Given the description of an element on the screen output the (x, y) to click on. 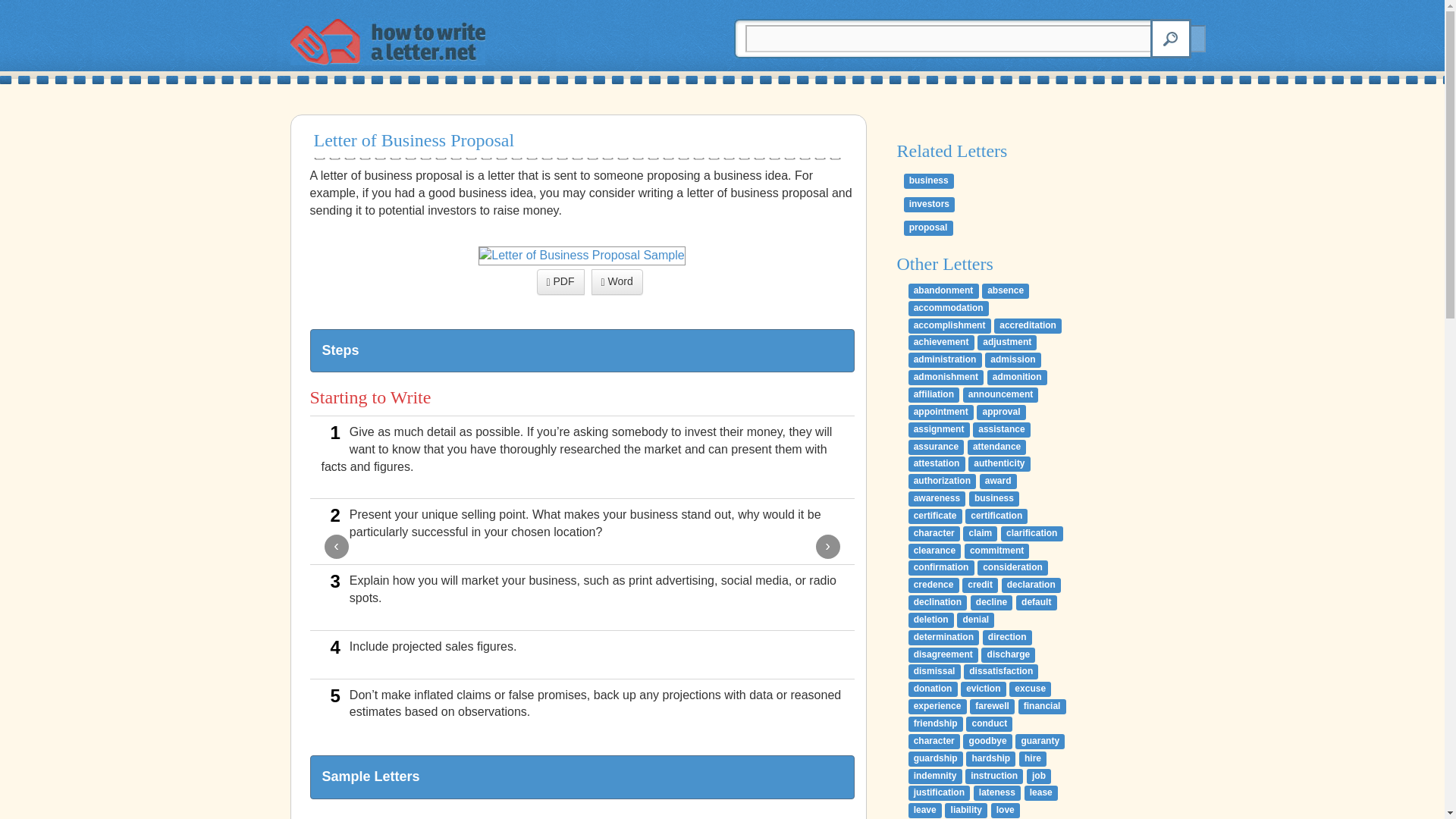
administration (944, 359)
abandonment (943, 290)
PDF (561, 281)
absence (1005, 290)
accreditation (1027, 325)
admission (1013, 359)
assurance (935, 447)
approval (1000, 412)
proposal (928, 227)
appointment (941, 412)
admonition (1016, 377)
award (997, 481)
Word (617, 281)
attendance (997, 447)
awareness (937, 498)
